Given the description of an element on the screen output the (x, y) to click on. 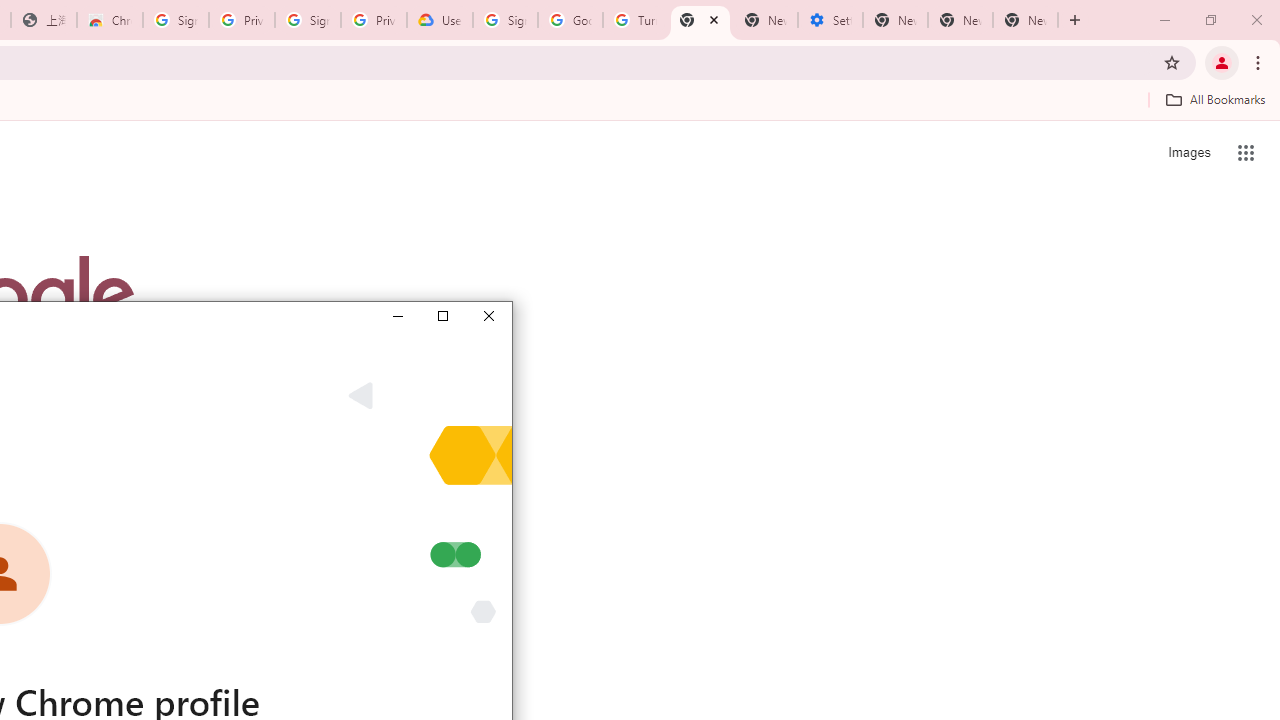
New Tab (1025, 20)
Turn cookies on or off - Computer - Google Account Help (635, 20)
Chrome Web Store - Color themes by Chrome (109, 20)
Maximize (442, 316)
Sign in - Google Accounts (175, 20)
